Given the description of an element on the screen output the (x, y) to click on. 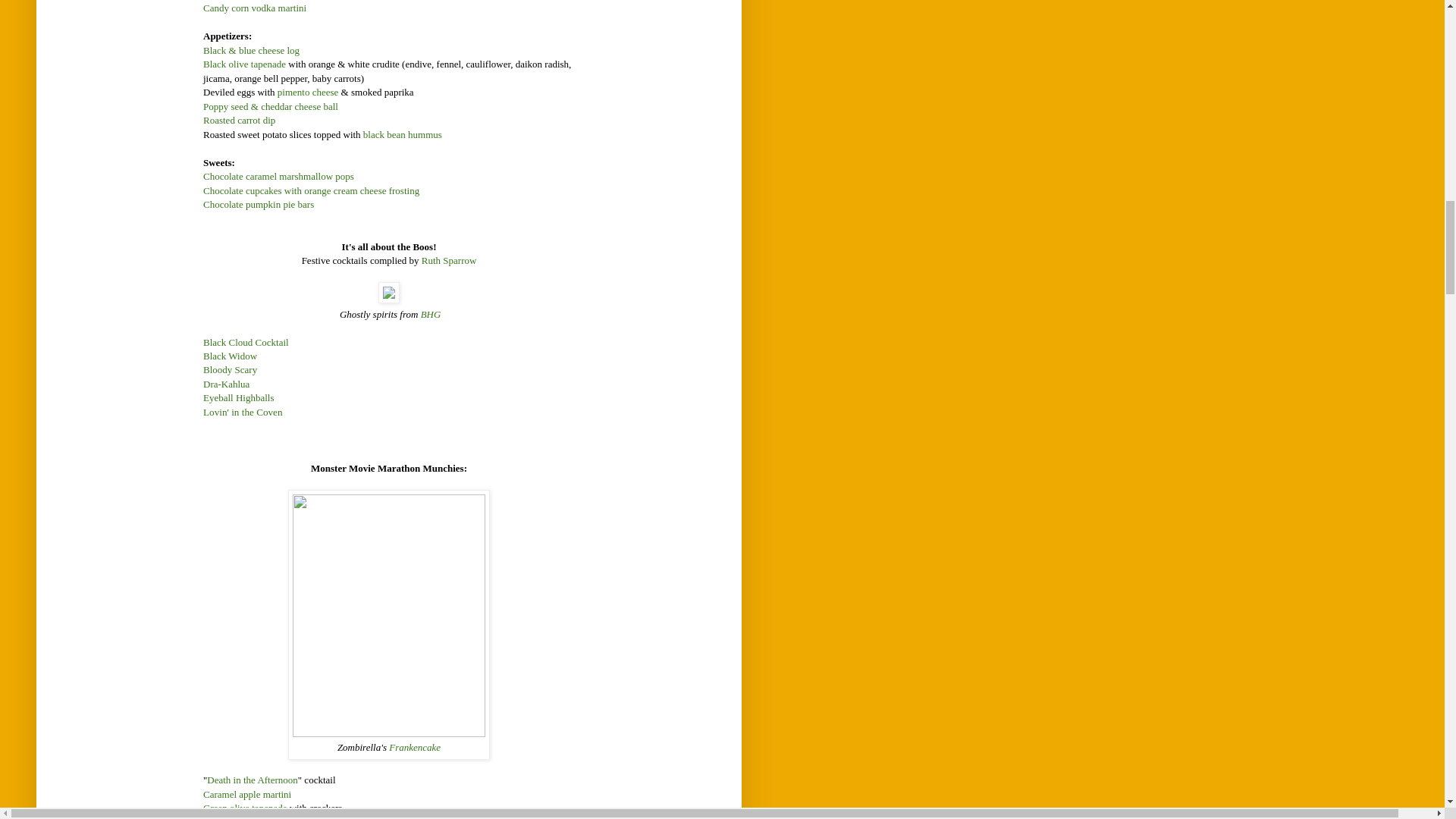
Lovin' in the Coven (242, 411)
Chocolate pumpkin pie bars (258, 204)
Chocolate caramel marshmallow pops (278, 175)
Black Cloud Cocktail (245, 342)
Candy corn vodka martini (254, 7)
black bean hummus (402, 134)
pimento cheese (308, 91)
Eyeball Highballs (239, 397)
Dra-Kahlua (225, 383)
Roasted carrot dip (239, 120)
